Given the description of an element on the screen output the (x, y) to click on. 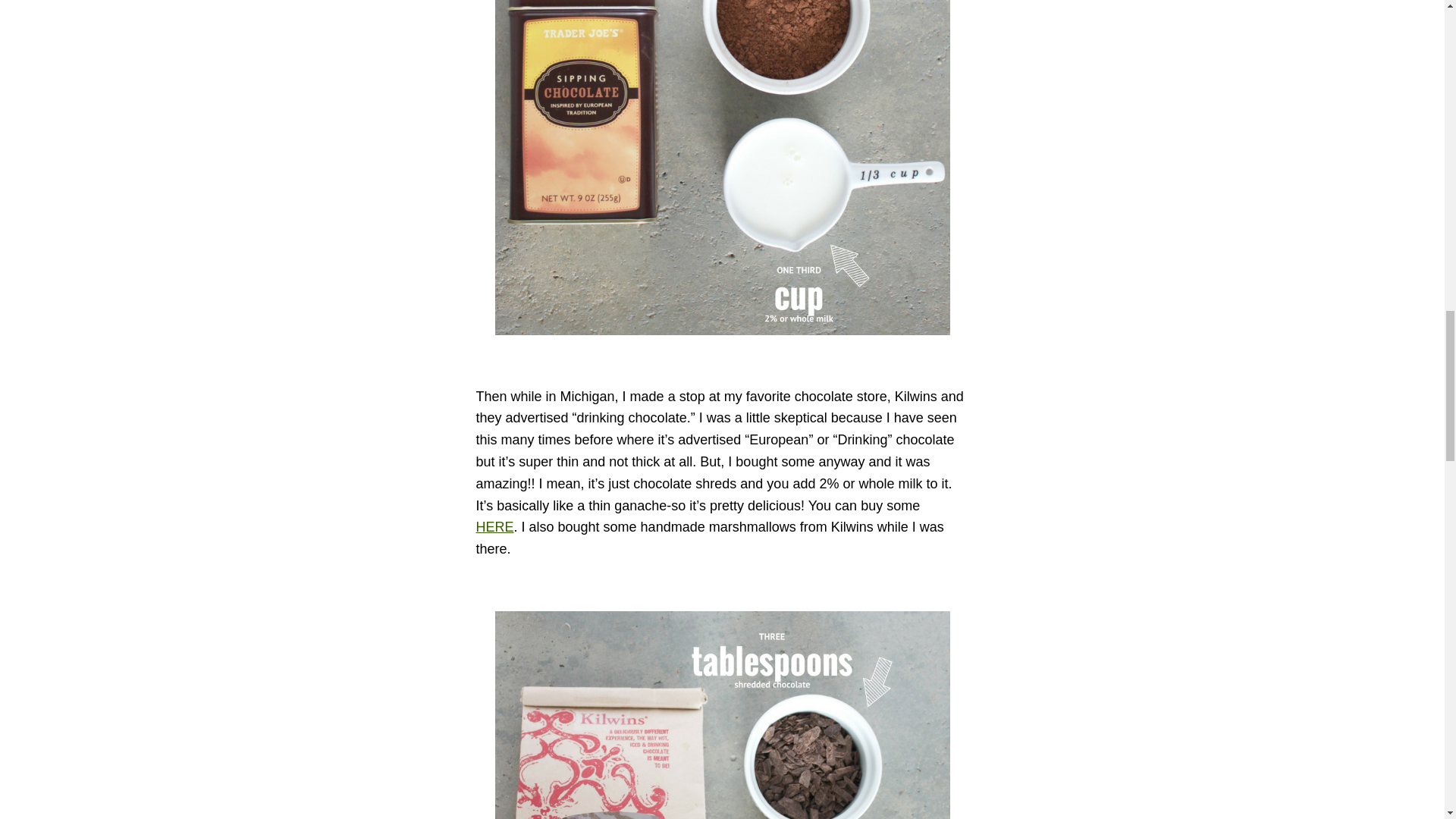
HERE (494, 526)
